Given the description of an element on the screen output the (x, y) to click on. 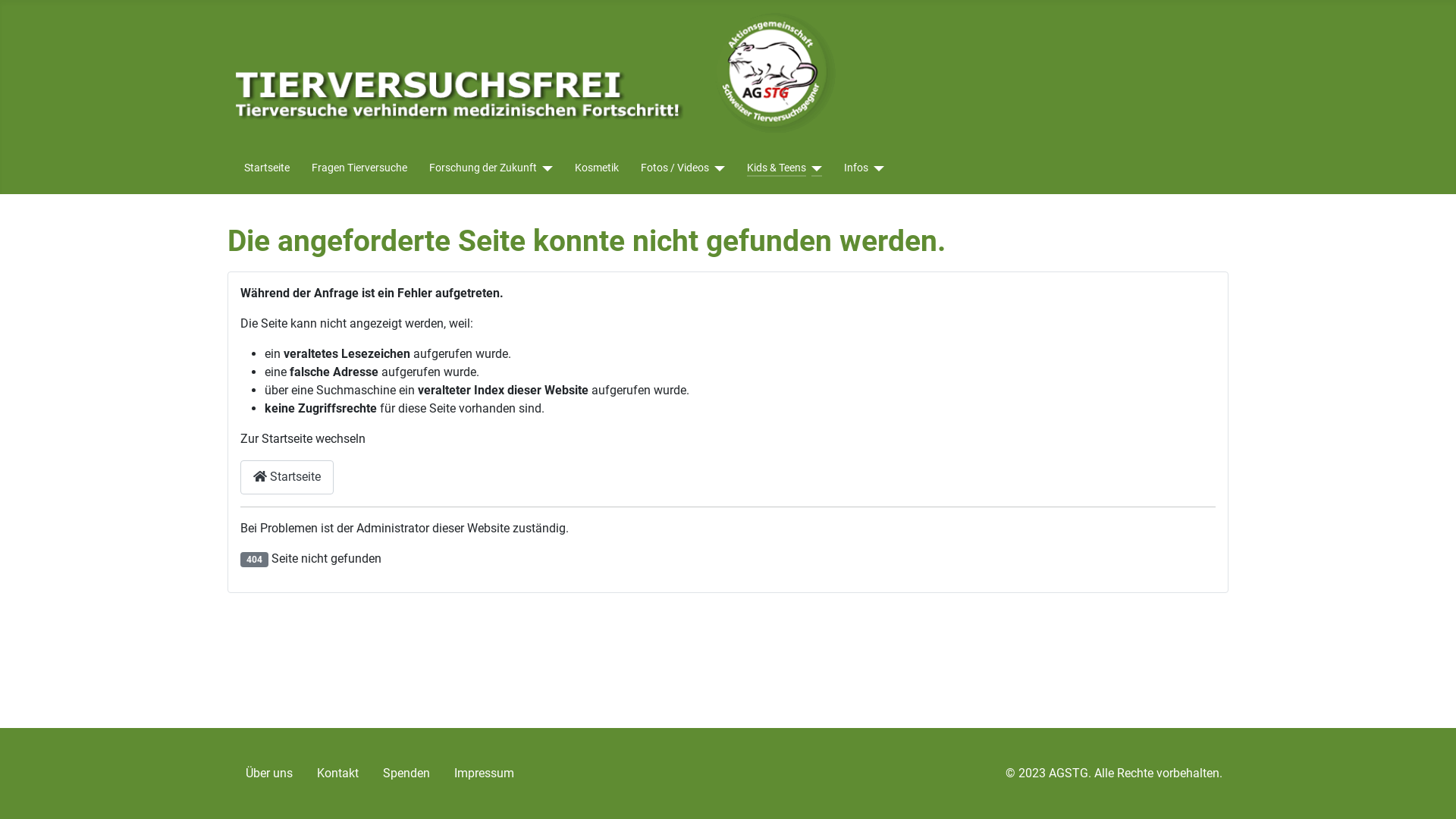
Infos Element type: text (864, 168)
Startseite Element type: text (286, 477)
Kids & Teens Element type: text (776, 168)
Startseite Element type: text (266, 168)
Kontakt Element type: text (337, 773)
Forschung der Zukunft Element type: text (482, 168)
Fotos / Videos Element type: text (674, 168)
Spenden Element type: text (405, 773)
Impressum Element type: text (484, 773)
Kosmetik Element type: text (596, 168)
Fragen Tierversuche Element type: text (359, 168)
